Given the description of an element on the screen output the (x, y) to click on. 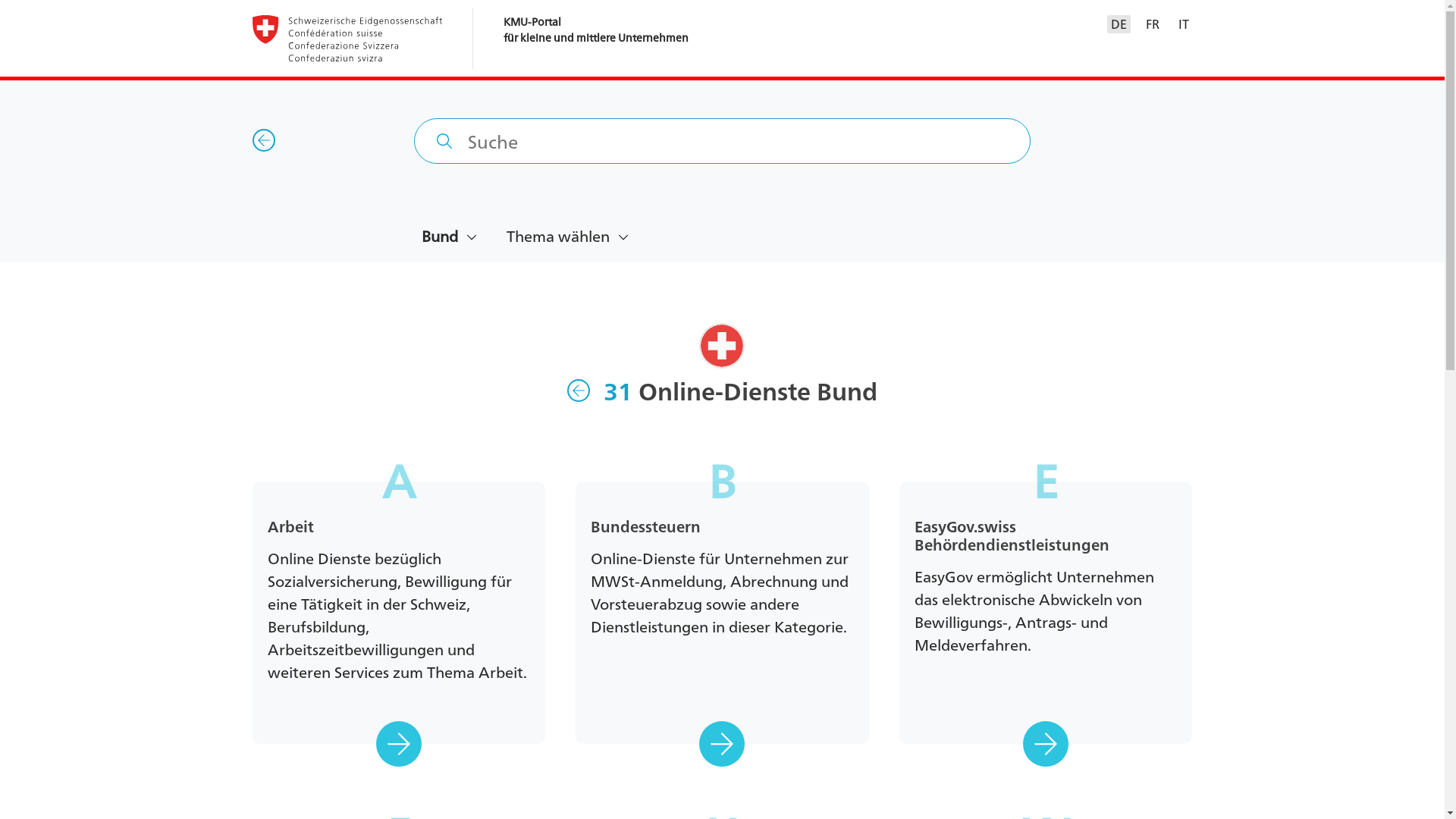
FR Element type: text (1151, 23)
Schweiz Element type: hover (721, 345)
IT Element type: text (1183, 23)
DE Element type: text (1118, 23)
